Given the description of an element on the screen output the (x, y) to click on. 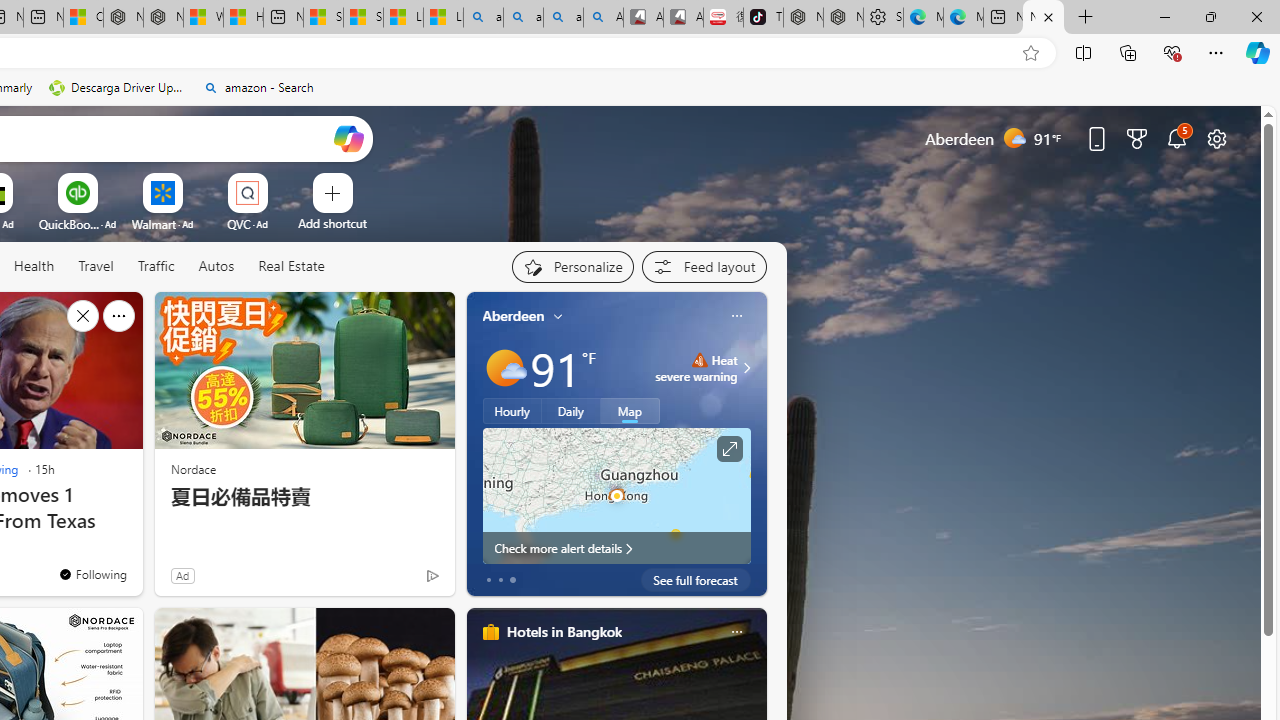
Map (630, 411)
Autos (216, 267)
Aberdeen (513, 315)
You're following Newsweek (92, 573)
Heat - Severe Heat severe warning (696, 367)
amazon - Search (523, 17)
Class: weather-arrow-glyph (746, 367)
Health (33, 267)
Travel (95, 265)
hotels-header-icon (490, 632)
All Cubot phones (683, 17)
Check more alert details (616, 547)
